Given the description of an element on the screen output the (x, y) to click on. 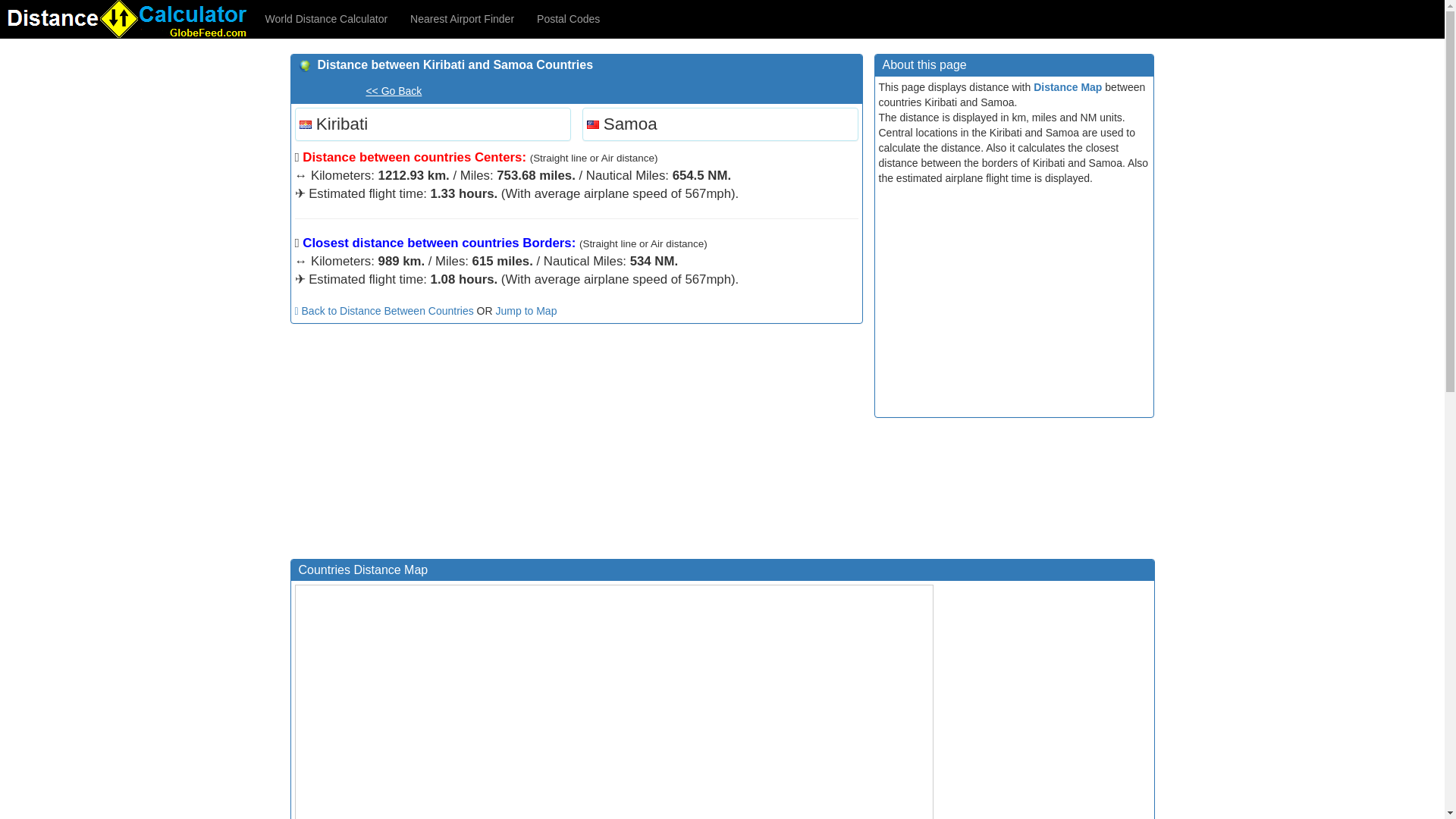
Distance Map (1067, 87)
Jump to Map (526, 310)
Advertisement (1013, 299)
World Distance Calculator (325, 18)
Advertisement (1047, 703)
Distance Calculator (126, 18)
Postal Codes (568, 18)
Advertisement (575, 445)
Nearest Airport Finder (461, 18)
